Given the description of an element on the screen output the (x, y) to click on. 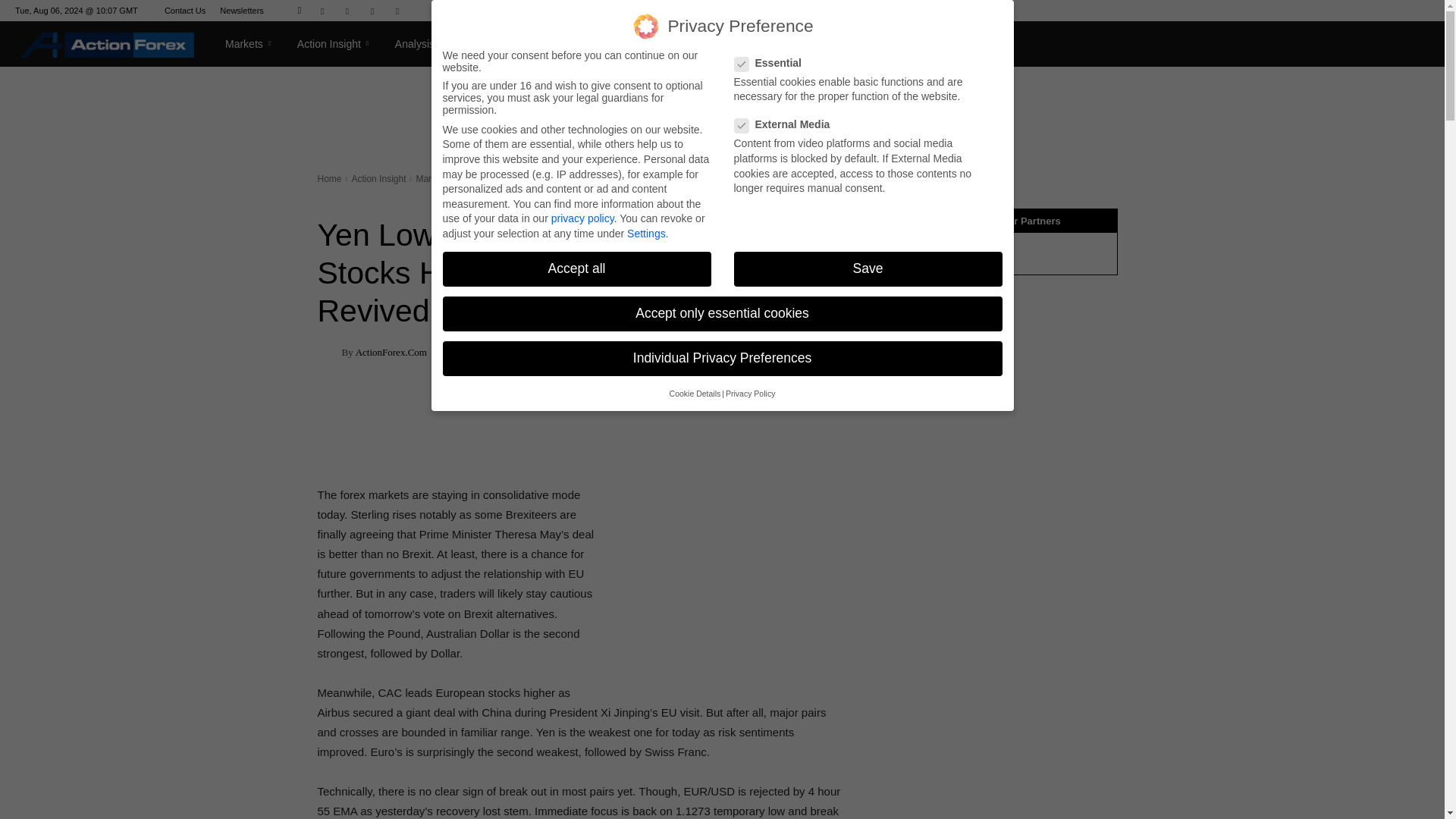
Action Forex (106, 44)
Facebook (322, 10)
RSS (372, 10)
Twitter (397, 10)
Mail (347, 10)
